Given the description of an element on the screen output the (x, y) to click on. 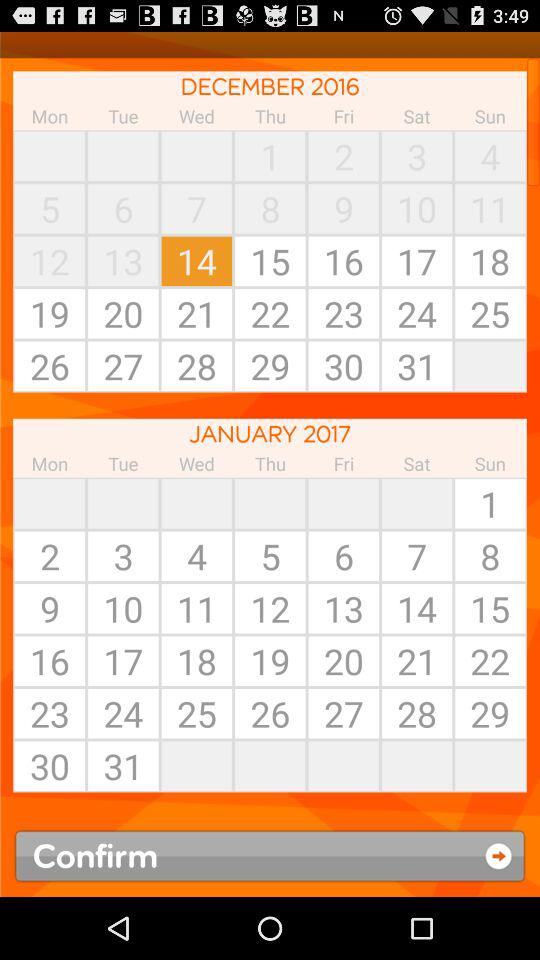
open app to the left of the sun (417, 503)
